Given the description of an element on the screen output the (x, y) to click on. 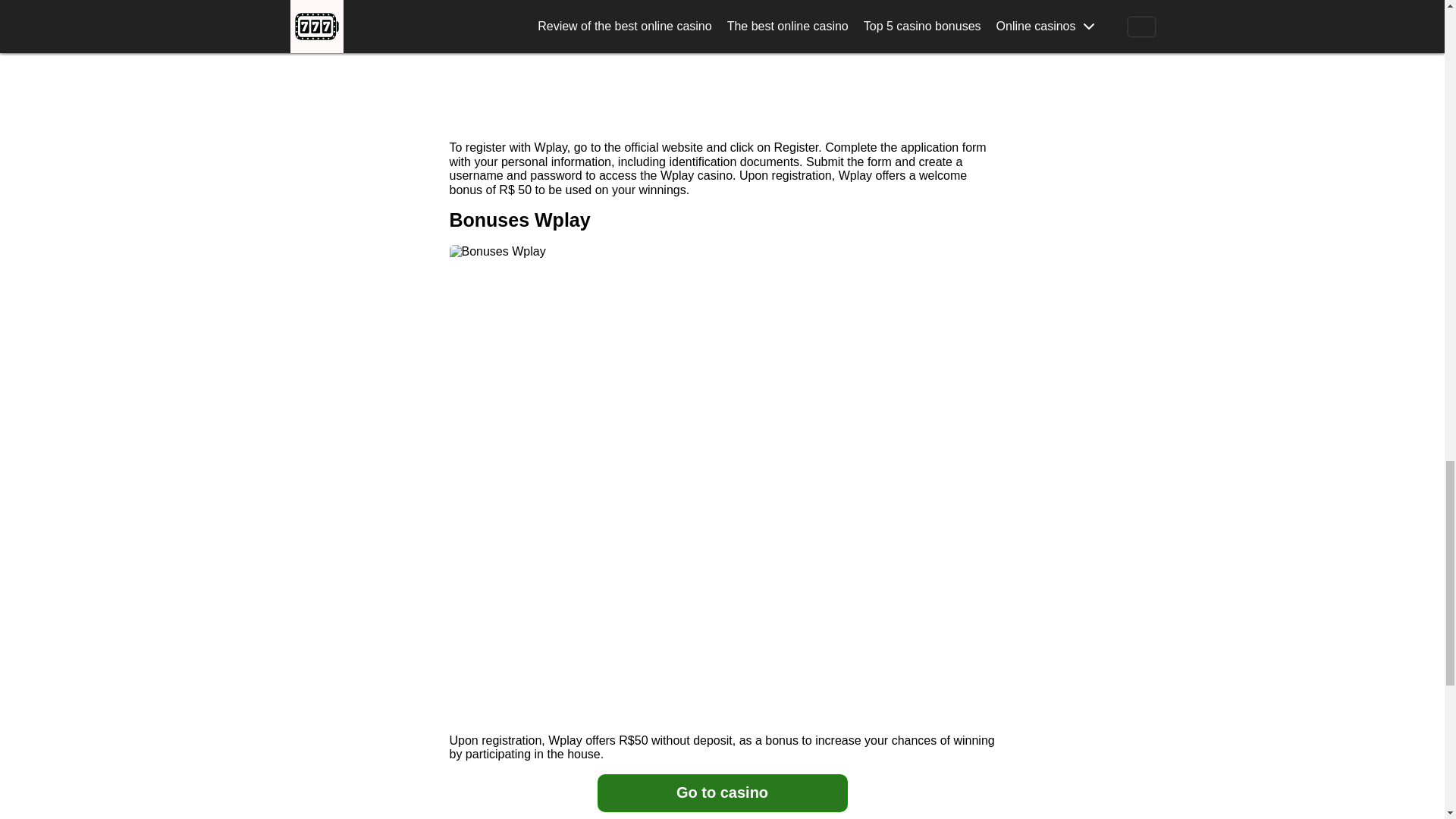
Go to casino (721, 792)
